Given the description of an element on the screen output the (x, y) to click on. 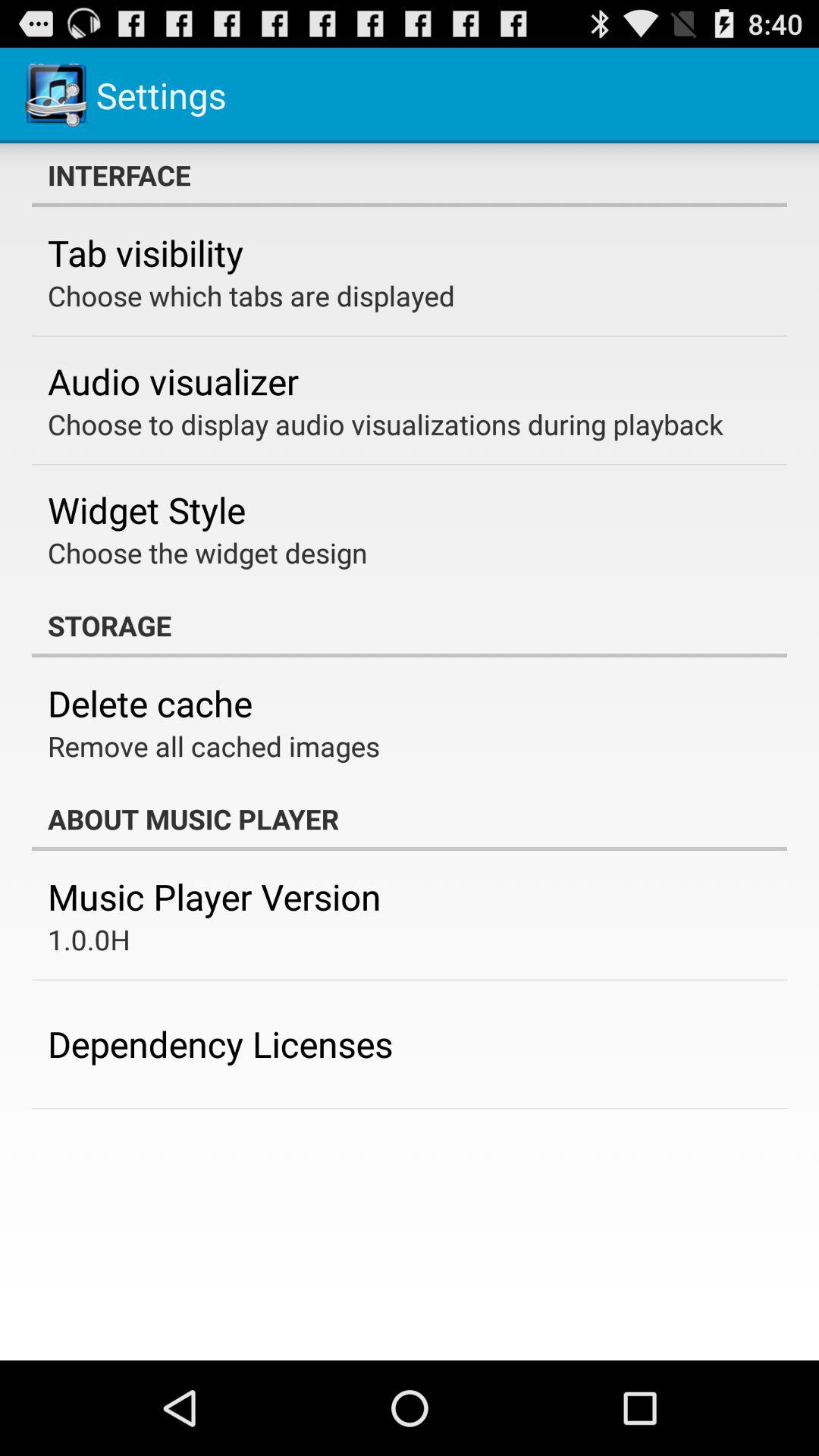
jump to 1.0.0h icon (88, 939)
